Given the description of an element on the screen output the (x, y) to click on. 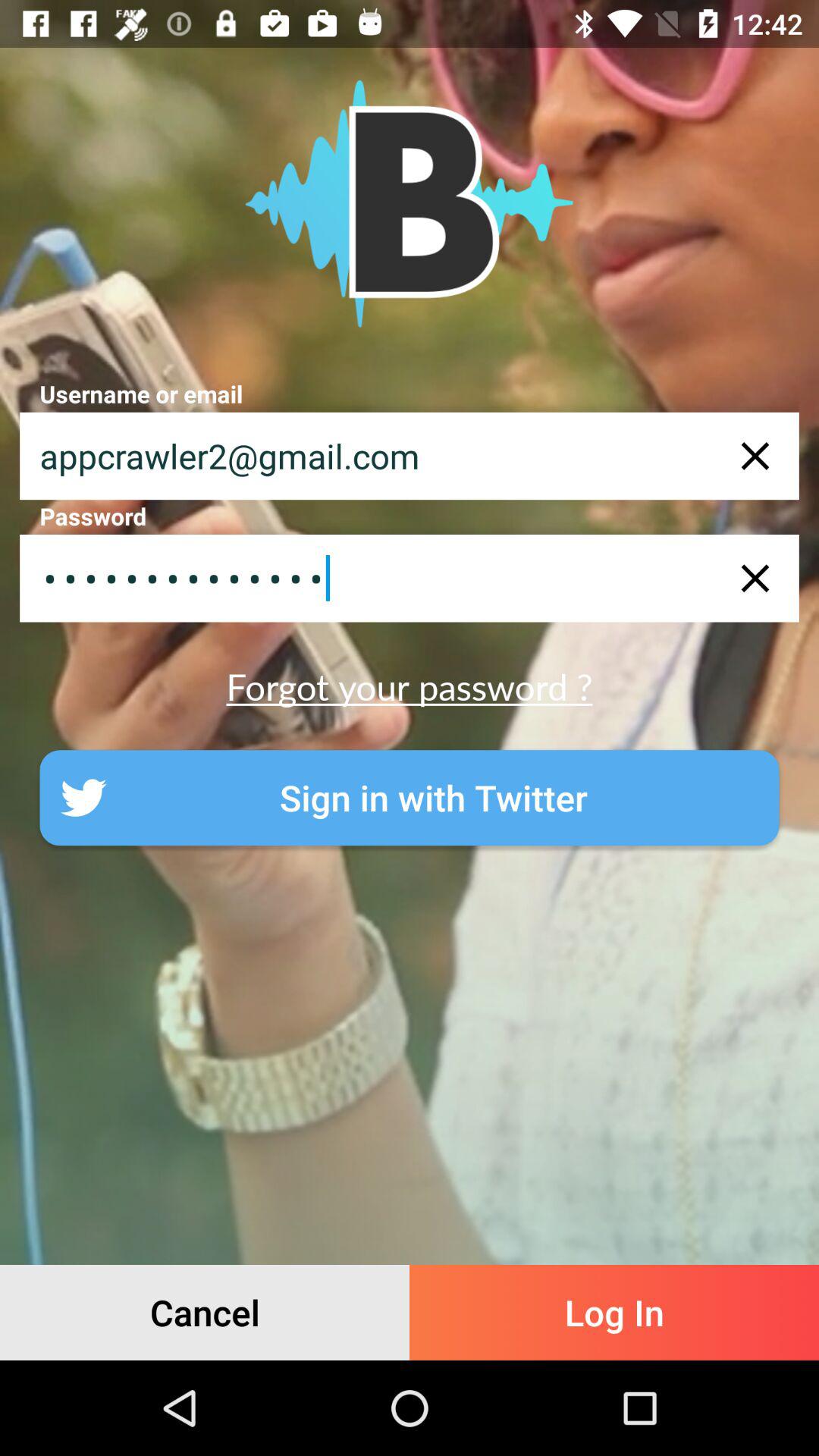
launch the item above cancel (409, 797)
